Given the description of an element on the screen output the (x, y) to click on. 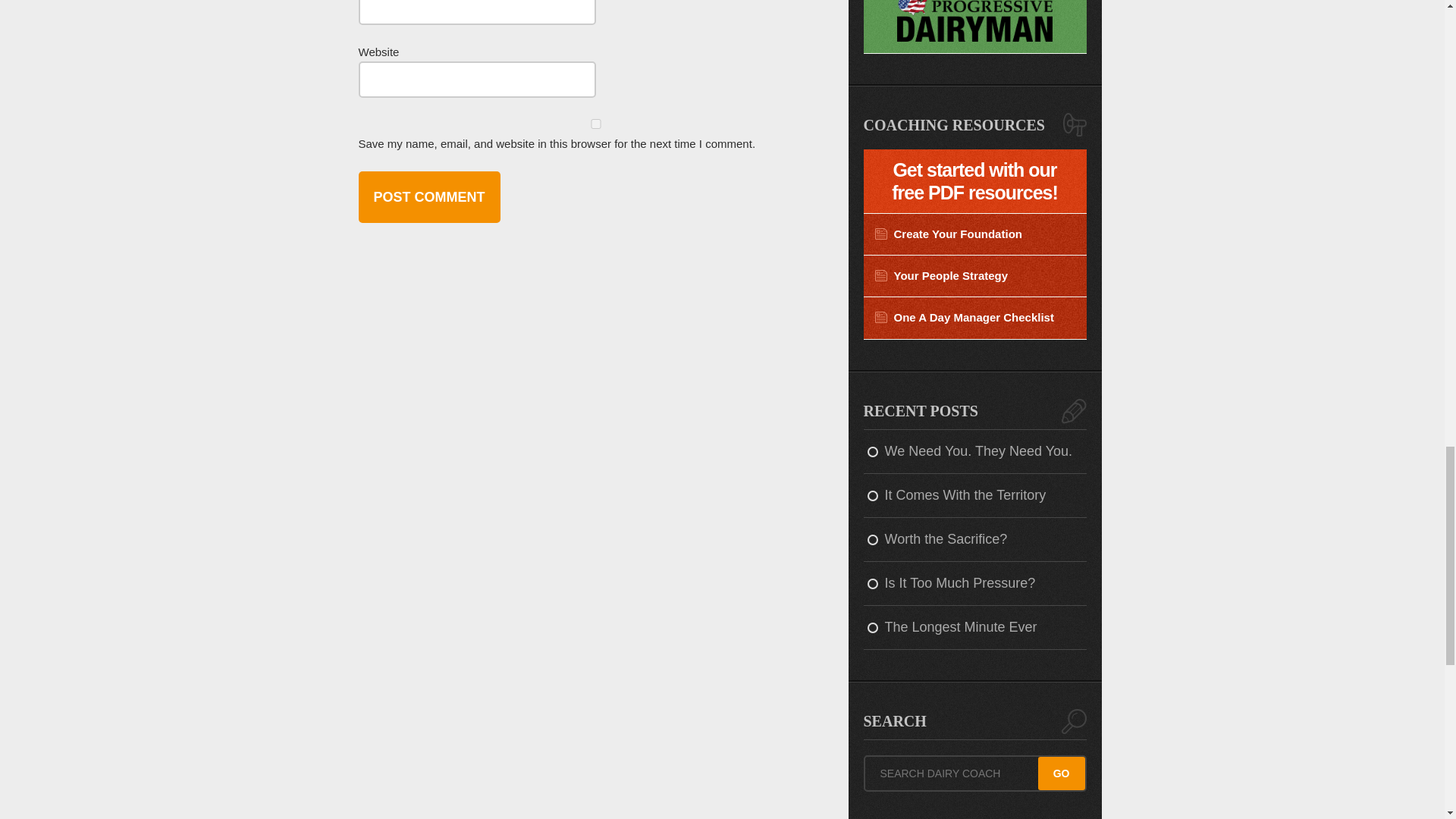
It Comes With the Territory (974, 495)
We Need You. They Need You. (974, 451)
Post Comment (428, 196)
The Longest Minute Ever (974, 628)
Go (1061, 773)
Go (1061, 773)
Post Comment (428, 196)
Is It Too Much Pressure? (974, 583)
One A Day Manager Checklist (974, 318)
Create Your Foundation (974, 234)
